Given the description of an element on the screen output the (x, y) to click on. 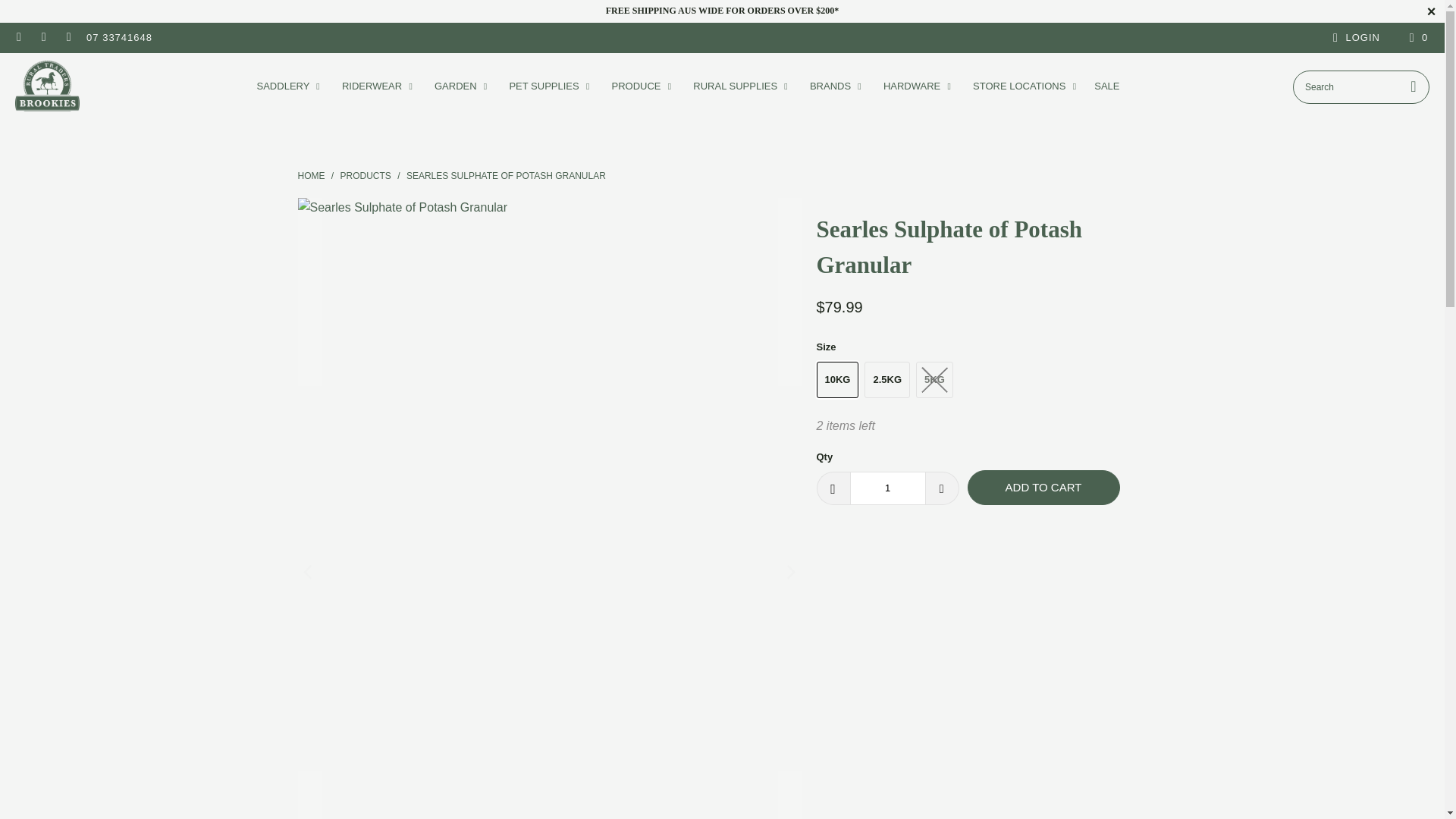
Brookies Rural Traders (47, 86)
Brookies Rural Traders on Facebook (17, 37)
1 (886, 488)
My Account  (1353, 37)
Brookies Rural Traders on YouTube (68, 37)
Products (365, 175)
Brookies Rural Traders on Instagram (42, 37)
Brookies Rural Traders (310, 175)
